Given the description of an element on the screen output the (x, y) to click on. 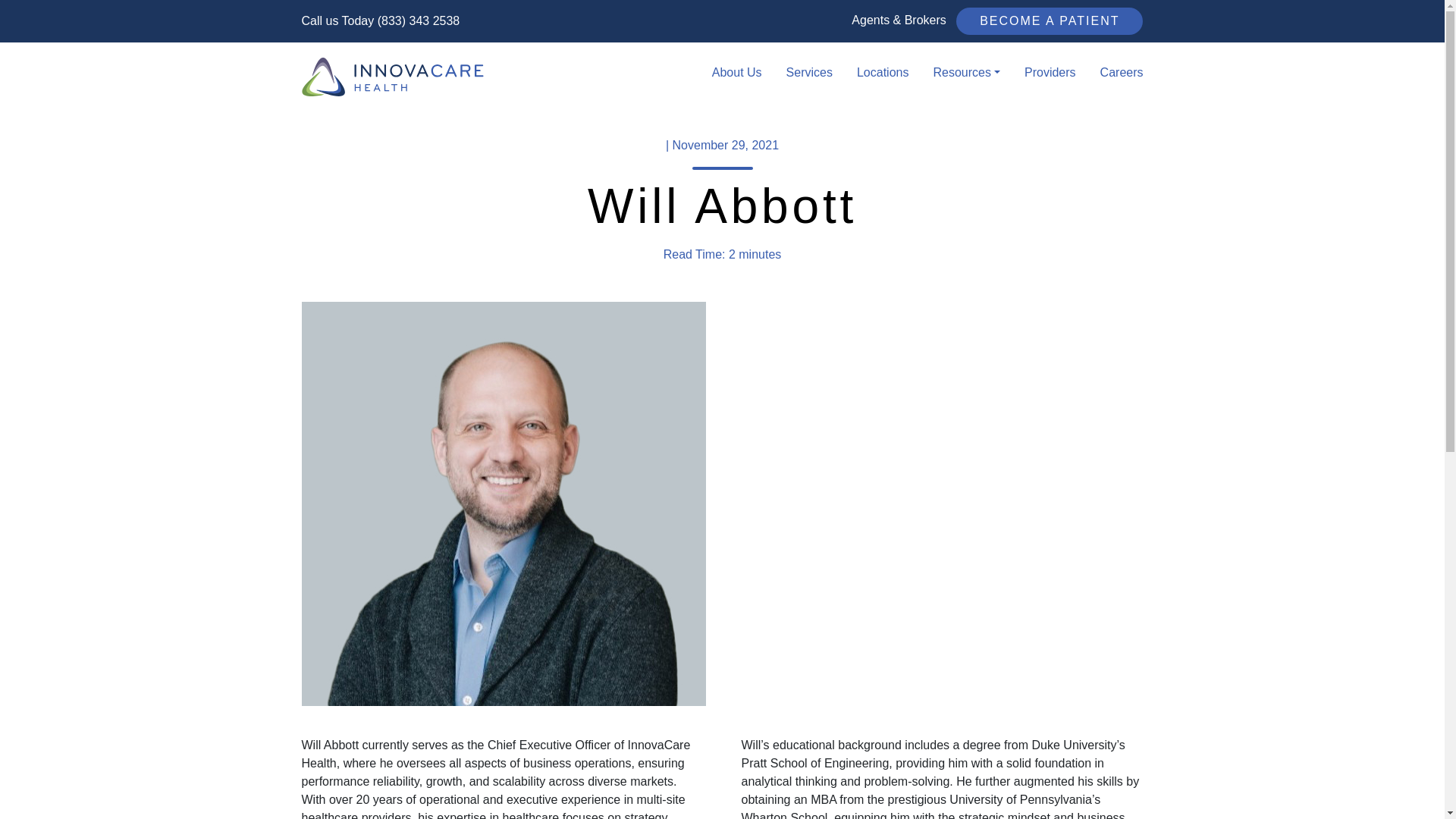
Services (809, 72)
Resources (965, 72)
About Us (737, 72)
Careers (1114, 72)
Locations (882, 72)
Providers (1049, 72)
BECOME A PATIENT (1049, 21)
